Given the description of an element on the screen output the (x, y) to click on. 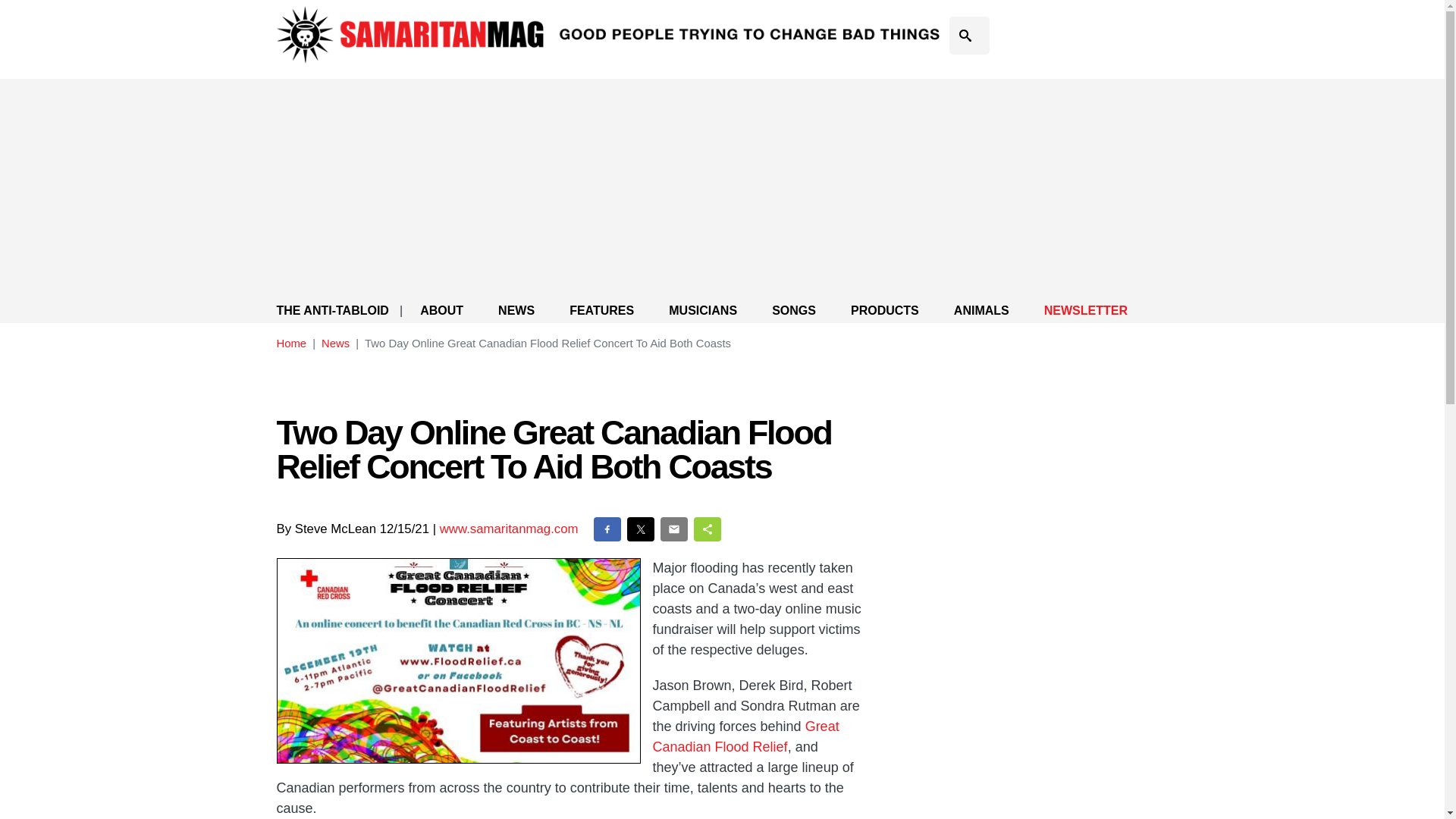
www.samaritanmag.com (508, 528)
THE ANTI-TABLOID (332, 310)
Home (290, 343)
Enter search terms you wish to search for. (969, 35)
FEATURES (601, 310)
Great Canadian Flood Relief (745, 736)
News (335, 343)
ABOUT (441, 310)
MUSICIANS (702, 310)
PRODUCTS (884, 310)
Search (973, 55)
NEWS (515, 310)
Advertisement (1026, 470)
ANIMALS (981, 310)
